Given the description of an element on the screen output the (x, y) to click on. 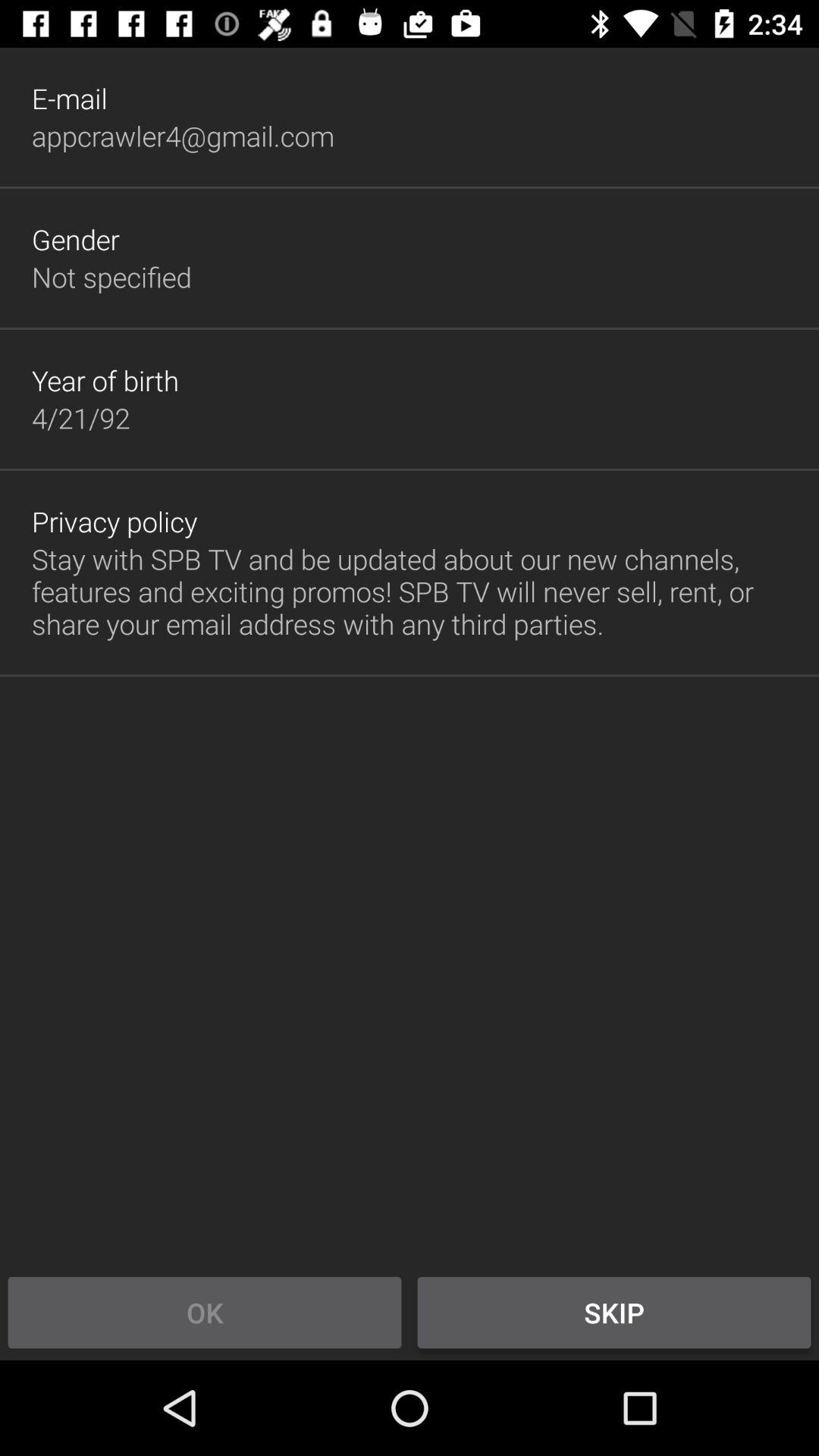
click appcrawler4@gmail.com (182, 135)
